Given the description of an element on the screen output the (x, y) to click on. 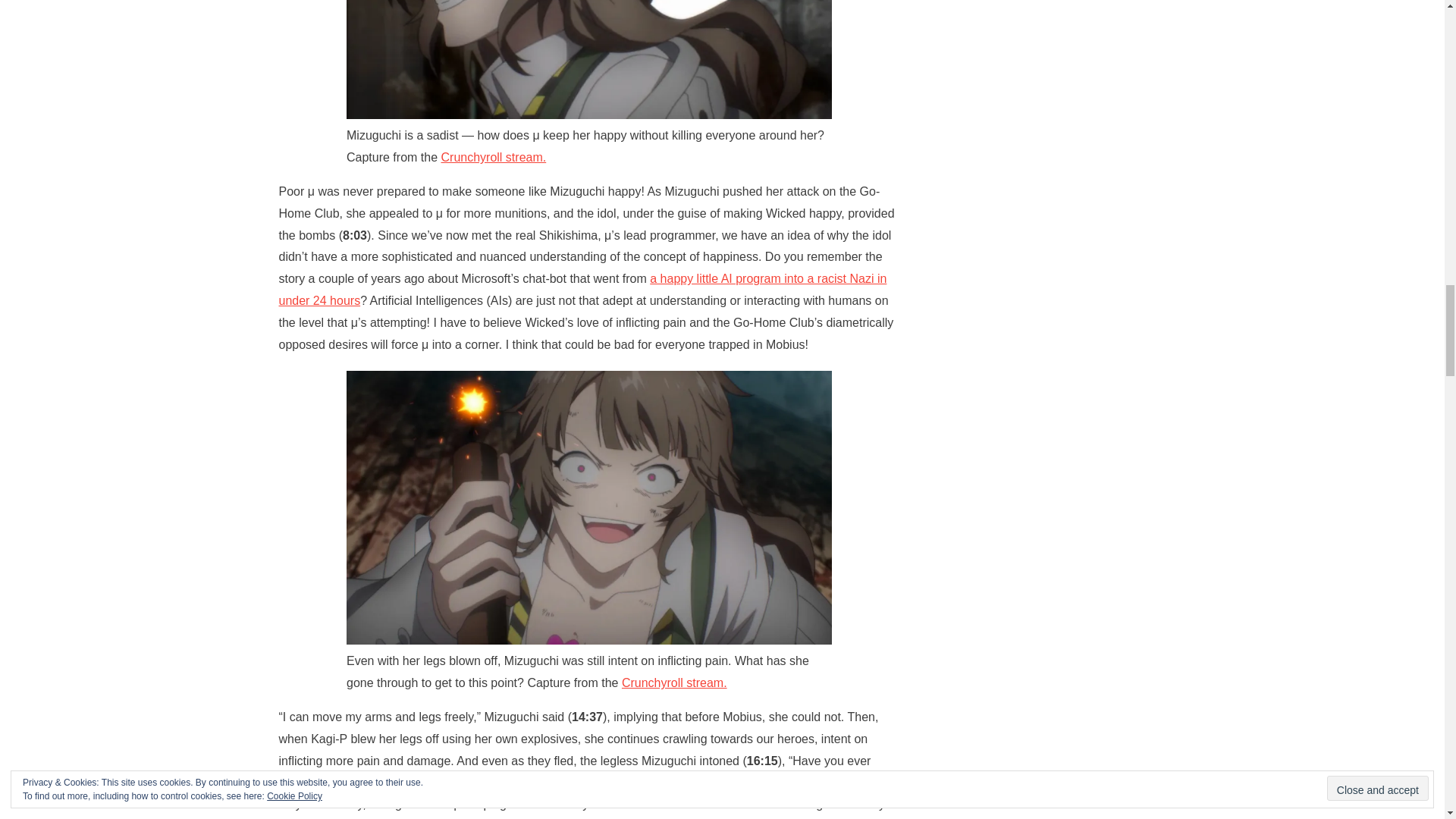
Crunchyroll stream. (494, 156)
Crunchyroll stream. (673, 682)
